Given the description of an element on the screen output the (x, y) to click on. 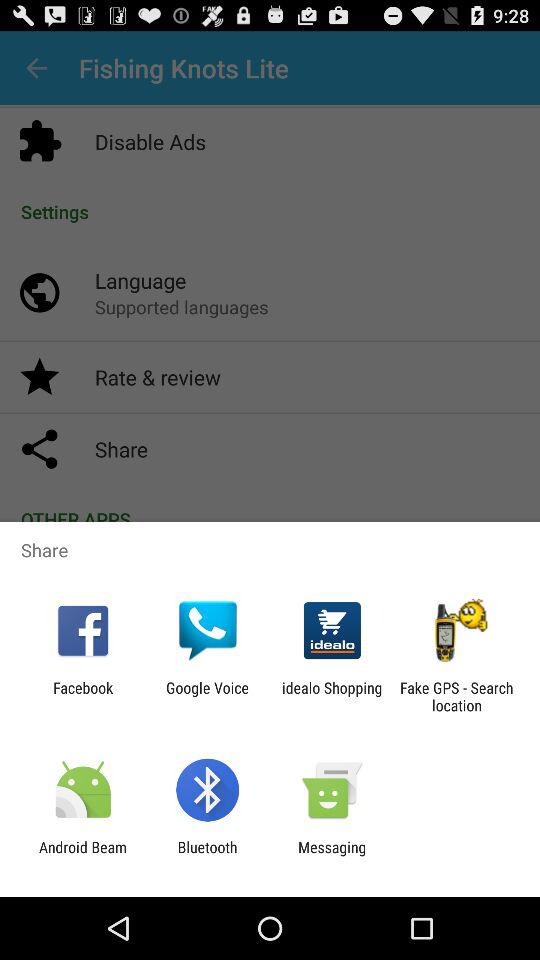
launch the icon to the left of fake gps search icon (331, 696)
